Given the description of an element on the screen output the (x, y) to click on. 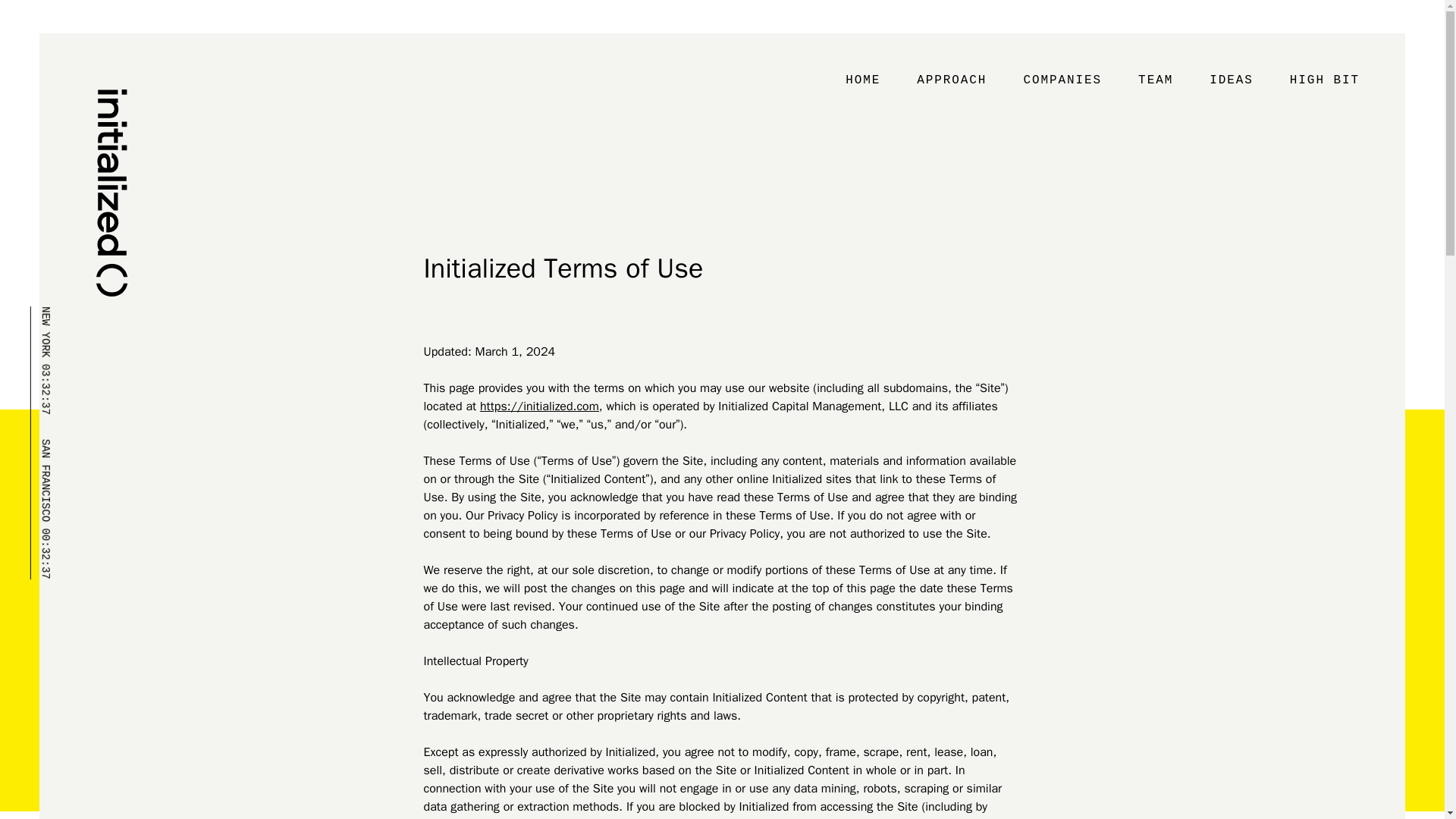
IDEAS (1231, 81)
APPROACH (951, 81)
COMPANIES (1061, 81)
HOME (862, 81)
TEAM (1155, 81)
HIGH BIT (1324, 81)
